Given the description of an element on the screen output the (x, y) to click on. 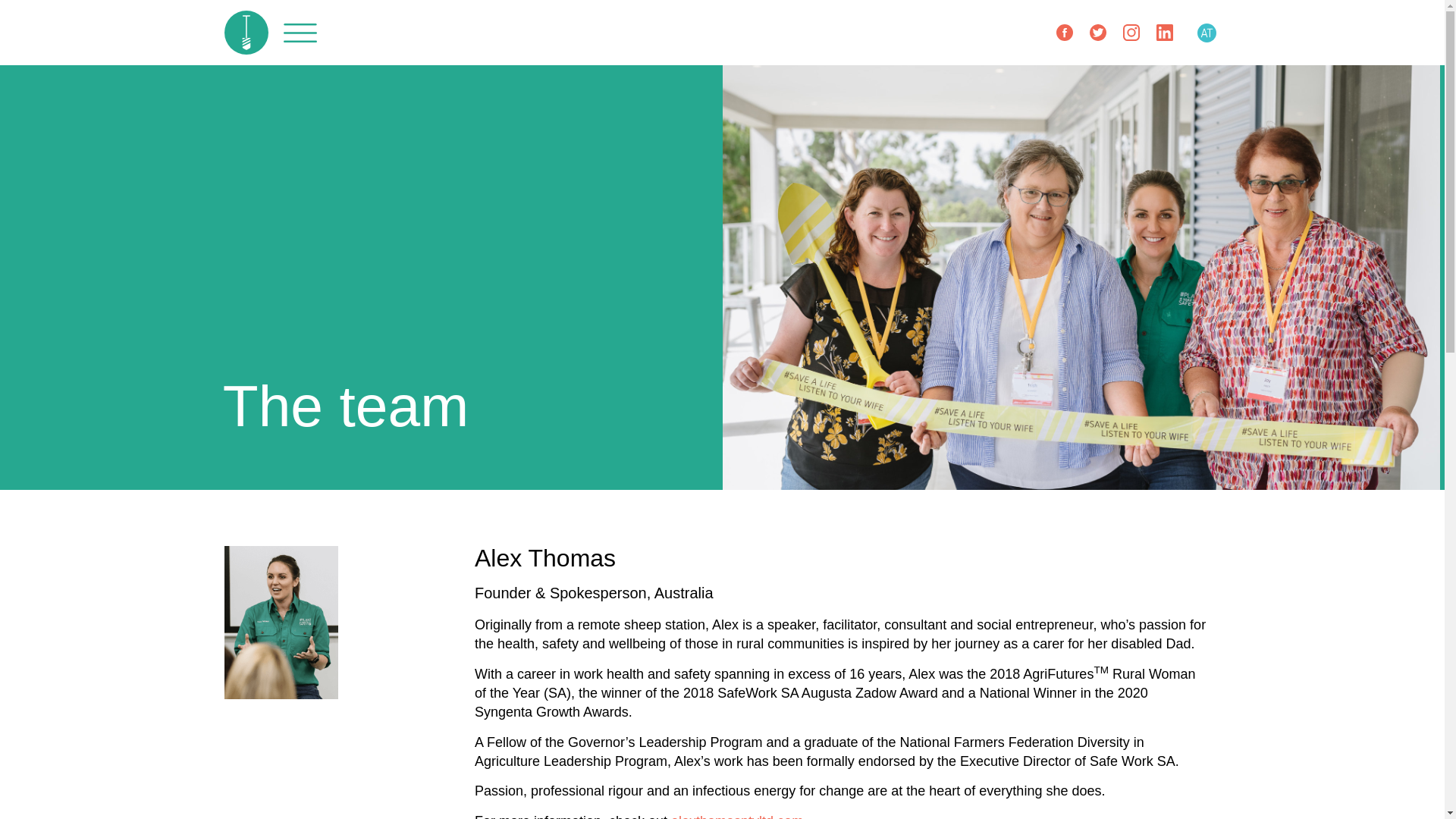
alexthomasptyltd.com (737, 816)
